Given the description of an element on the screen output the (x, y) to click on. 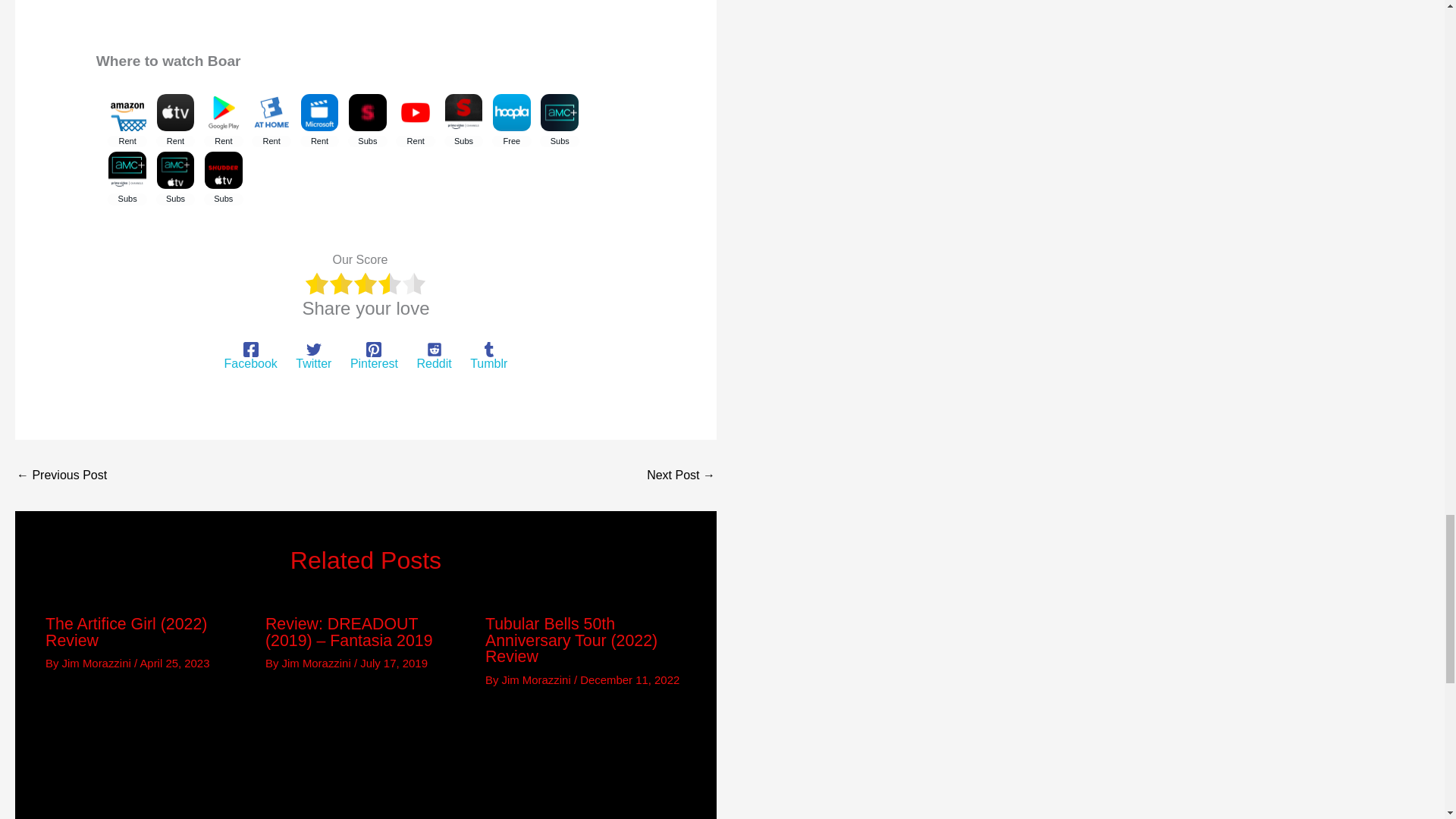
Facebook (251, 356)
Twitter (313, 356)
Jim Morazzini (317, 662)
View all posts by Jim Morazzini (97, 662)
Jim Morazzini (97, 662)
Pinterest (373, 356)
View all posts by Jim Morazzini (317, 662)
Powered by JustWatch (145, 230)
View all posts by Jim Morazzini (537, 679)
Reddit (433, 356)
